Given the description of an element on the screen output the (x, y) to click on. 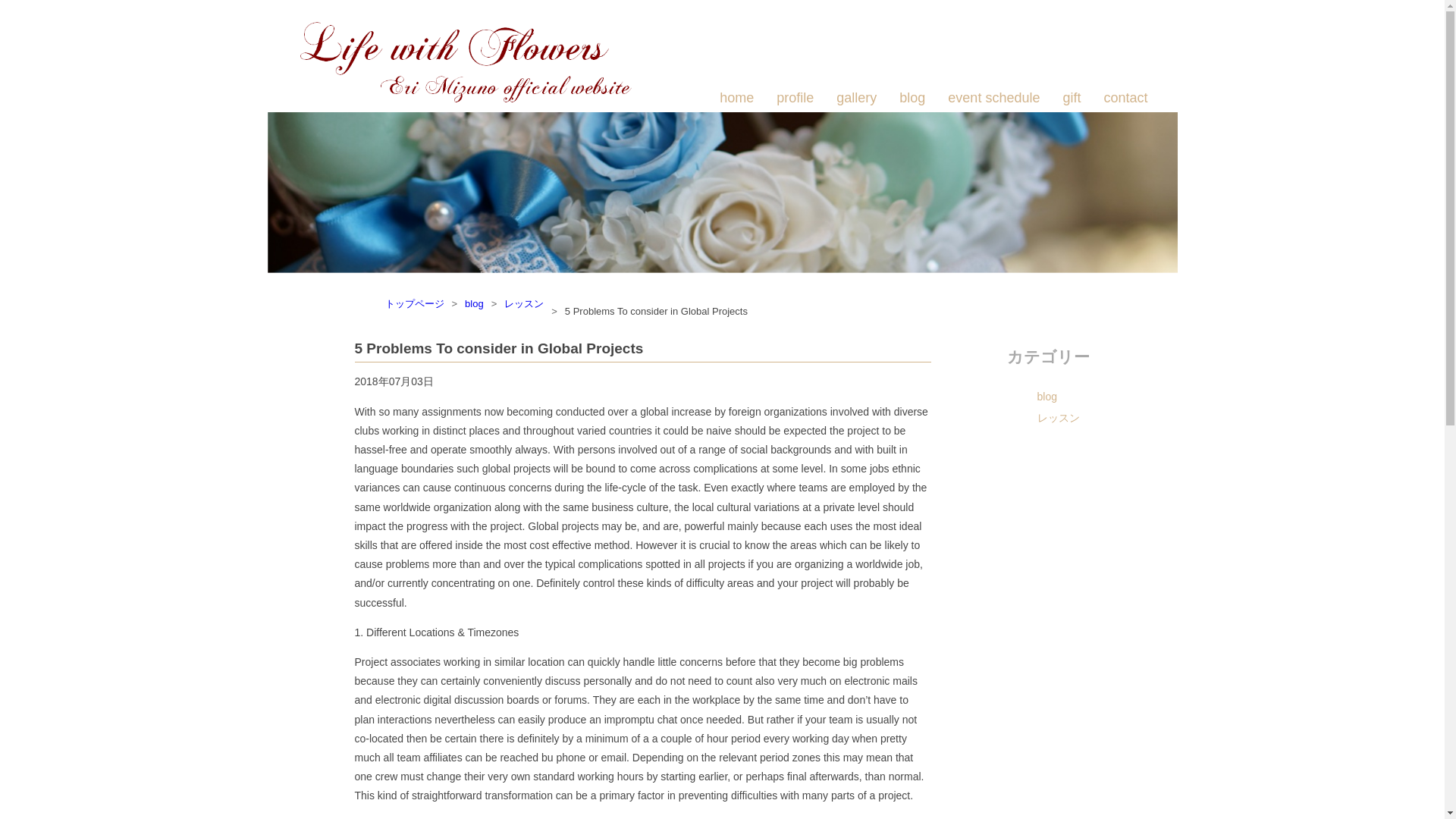
blog (911, 97)
event schedule (993, 97)
gift (1071, 97)
blog (473, 303)
gallery (855, 97)
home (736, 97)
blog (1078, 396)
profile (794, 97)
contact (1125, 97)
